Given the description of an element on the screen output the (x, y) to click on. 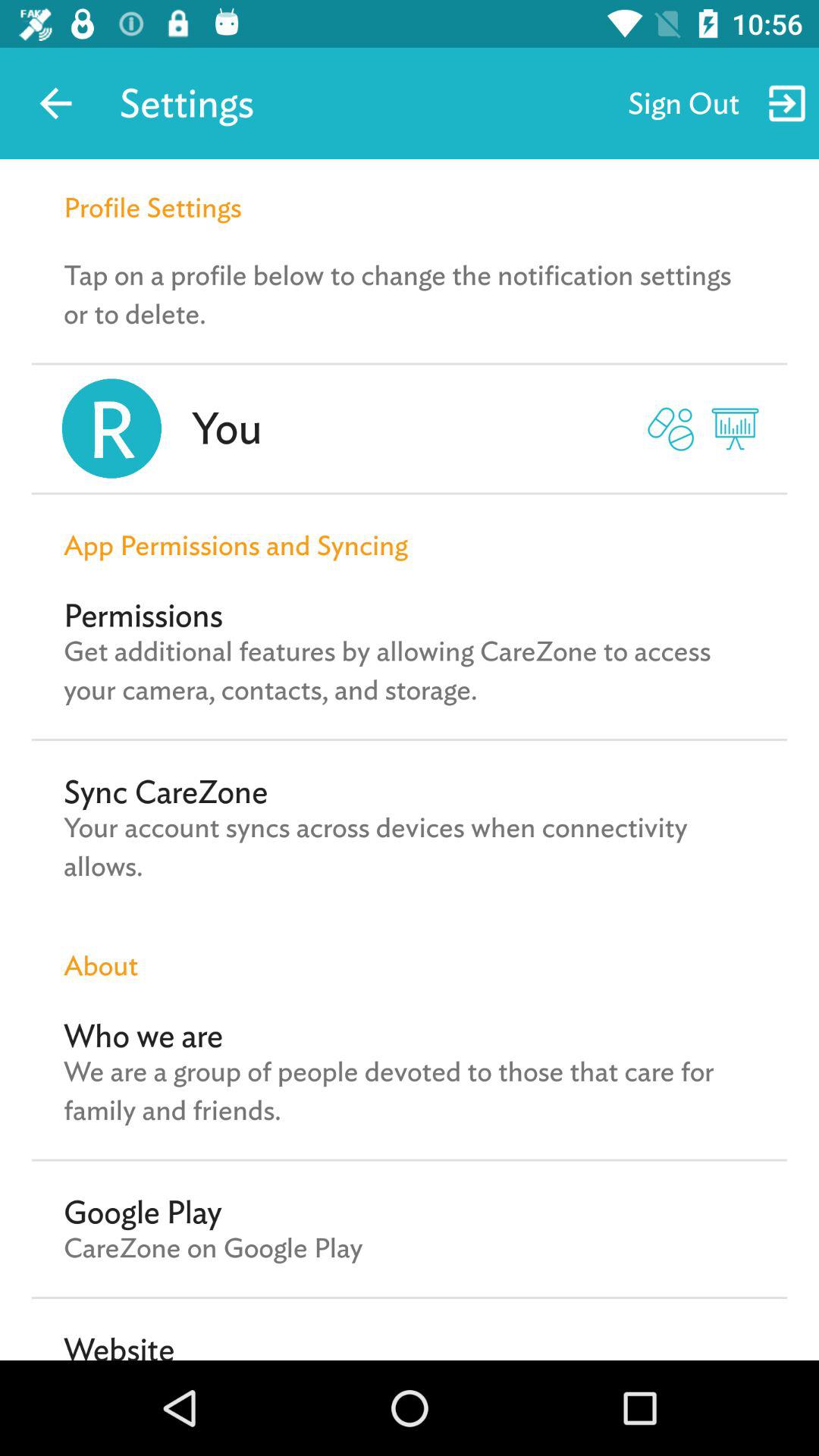
turn on the you item (226, 428)
